Given the description of an element on the screen output the (x, y) to click on. 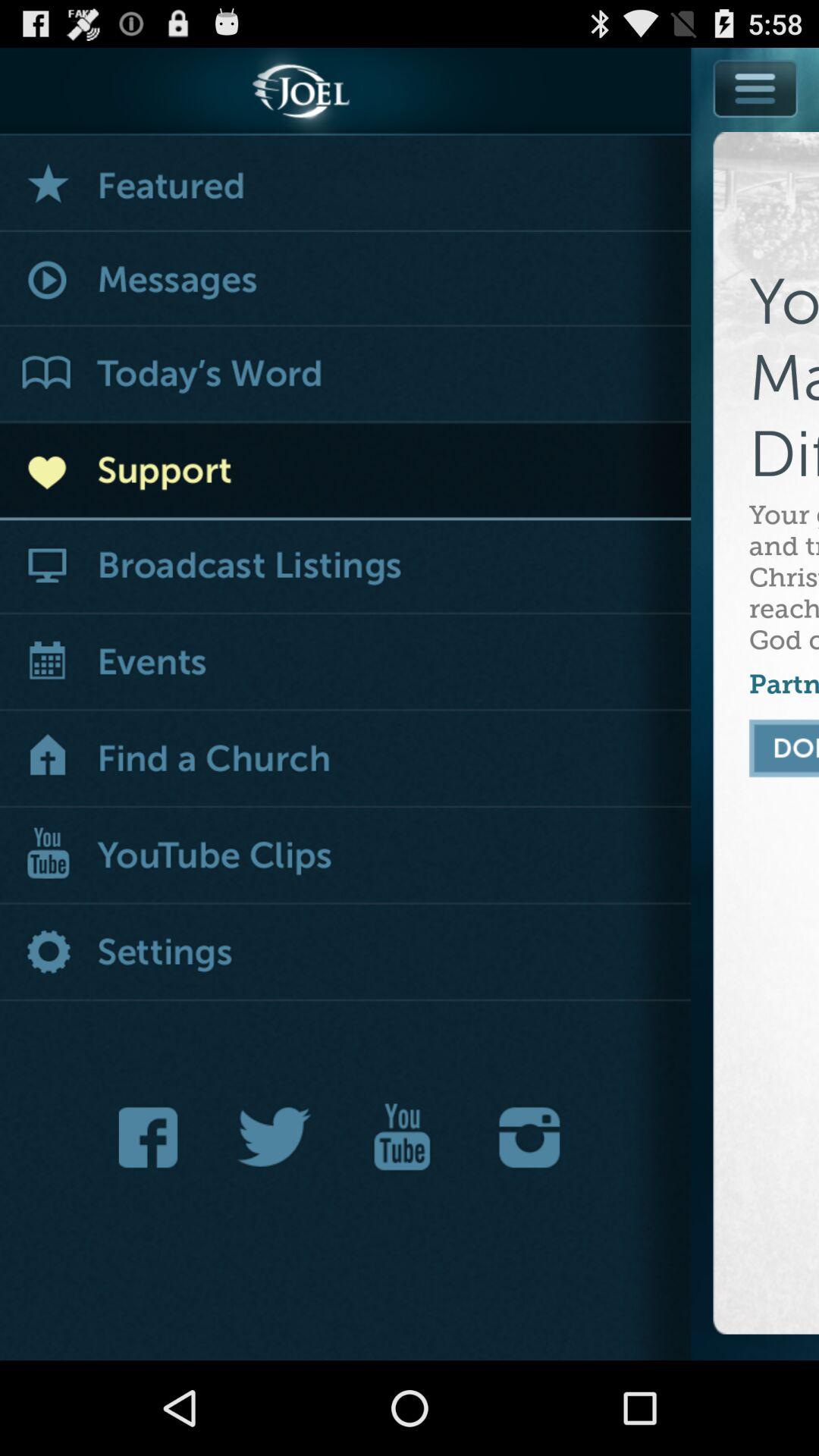
tap to donate (784, 748)
